Given the description of an element on the screen output the (x, y) to click on. 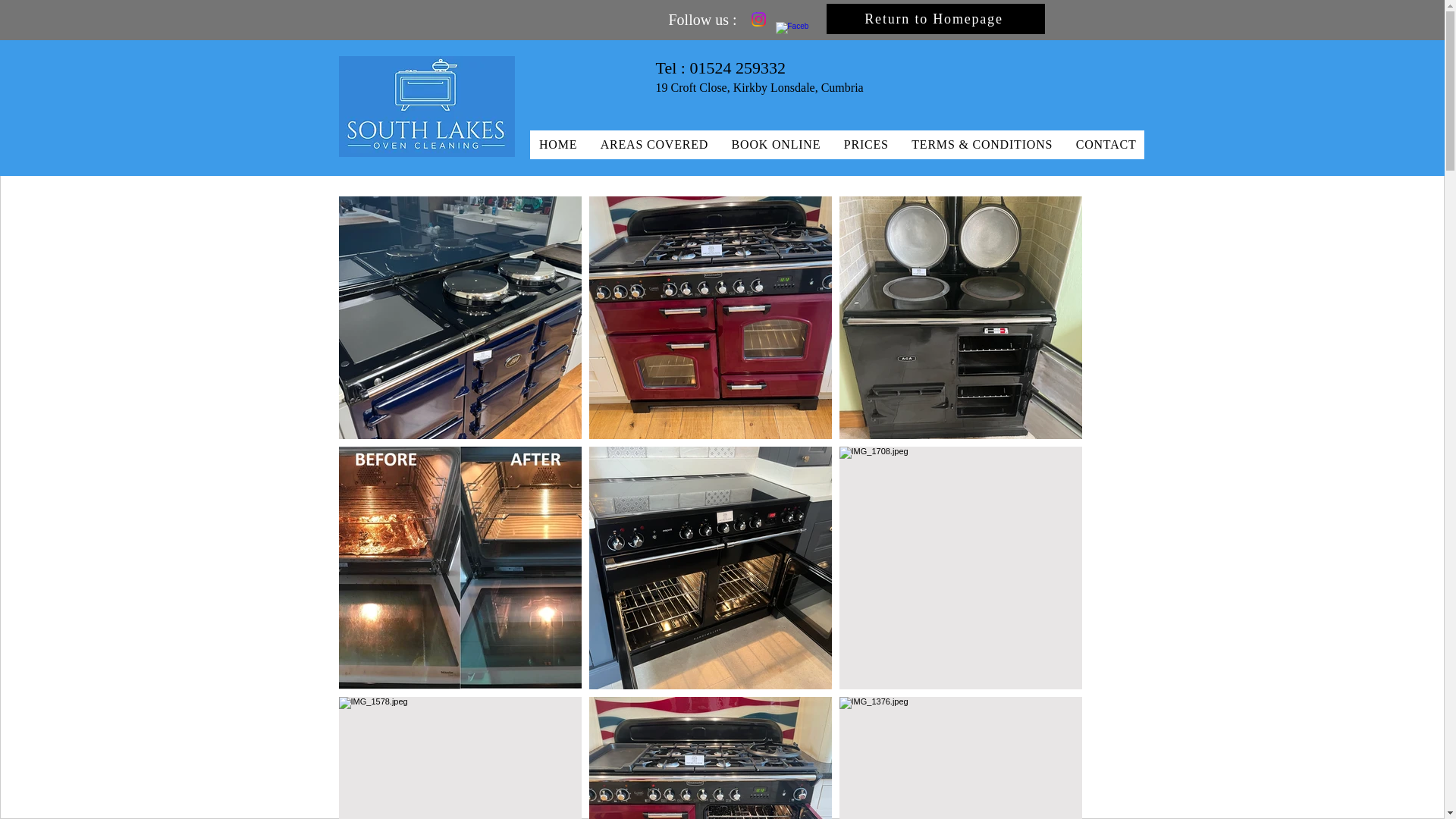
HOME (557, 144)
PRICES (865, 144)
Follow us : (702, 19)
Tel : 01524 259332 (719, 67)
BOOK ONLINE (775, 144)
Return to Homepage (936, 19)
CONTACT (1103, 144)
AREAS COVERED (653, 144)
